Given the description of an element on the screen output the (x, y) to click on. 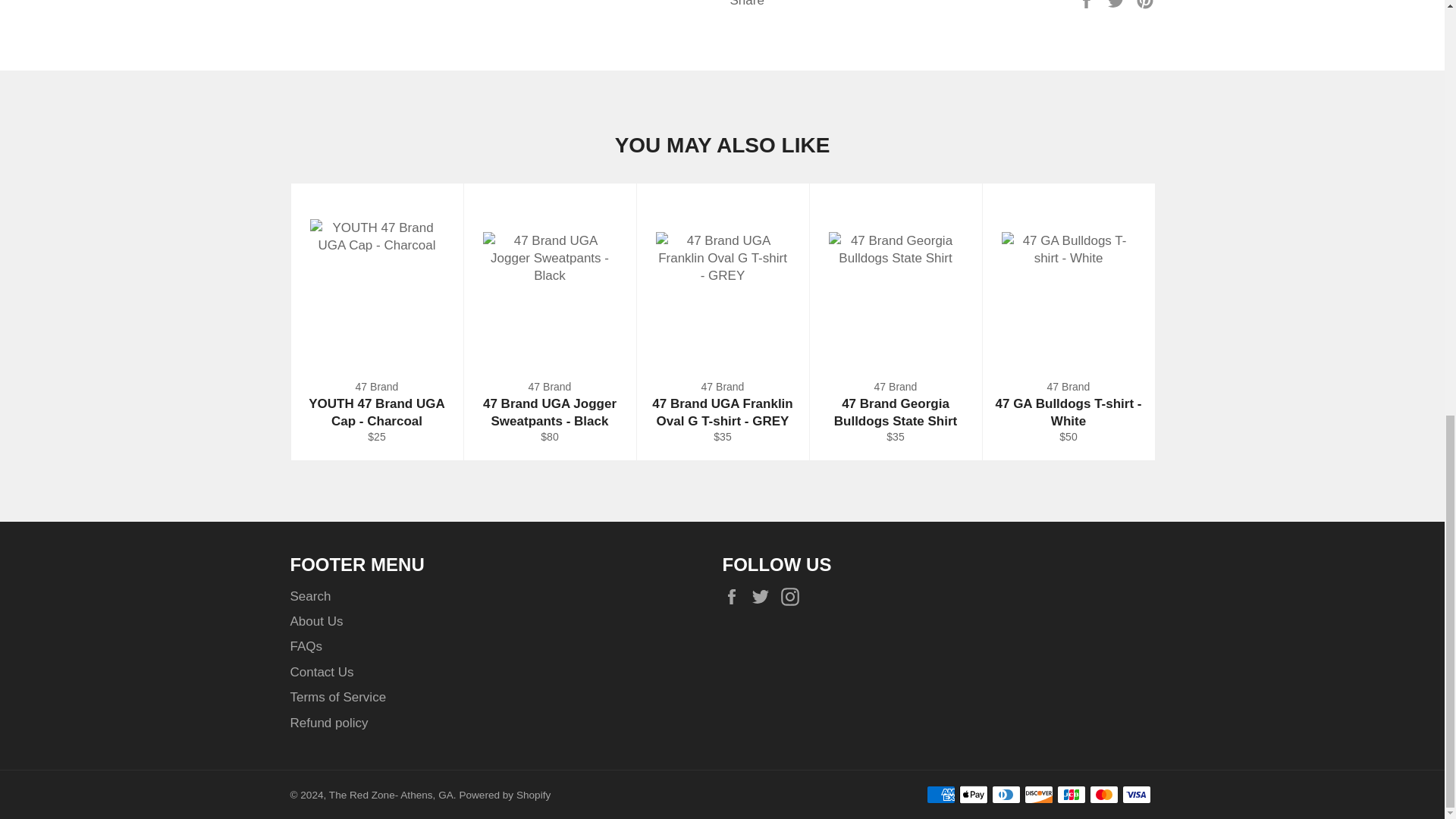
Tweet on Twitter (1117, 3)
Share on Facebook (1088, 3)
The Red Zone- Athens, GA on Instagram (793, 597)
The Red Zone- Athens, GA on Twitter (764, 597)
The Red Zone- Athens, GA on Facebook (735, 597)
Pin on Pinterest (1144, 3)
